Given the description of an element on the screen output the (x, y) to click on. 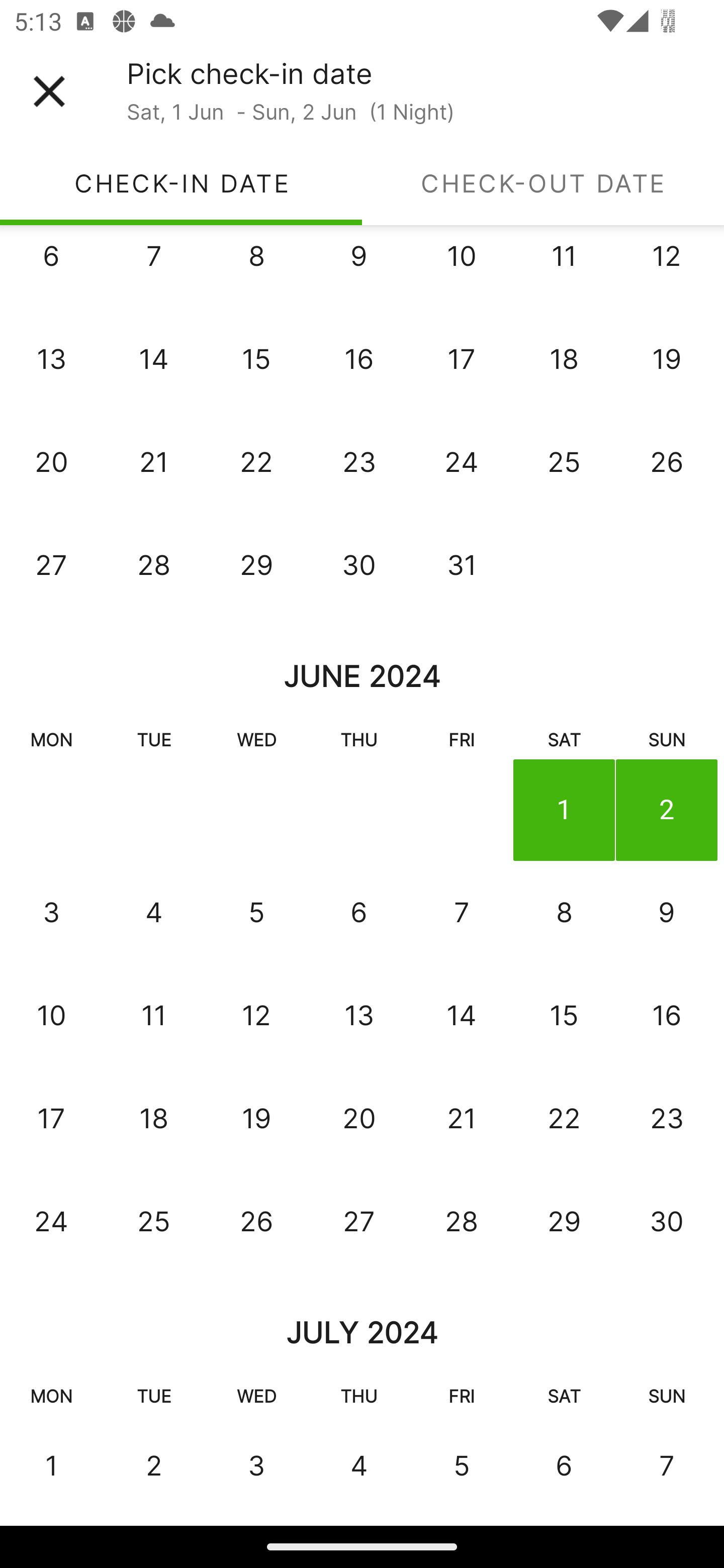
Check-out Date CHECK-OUT DATE (543, 183)
